Given the description of an element on the screen output the (x, y) to click on. 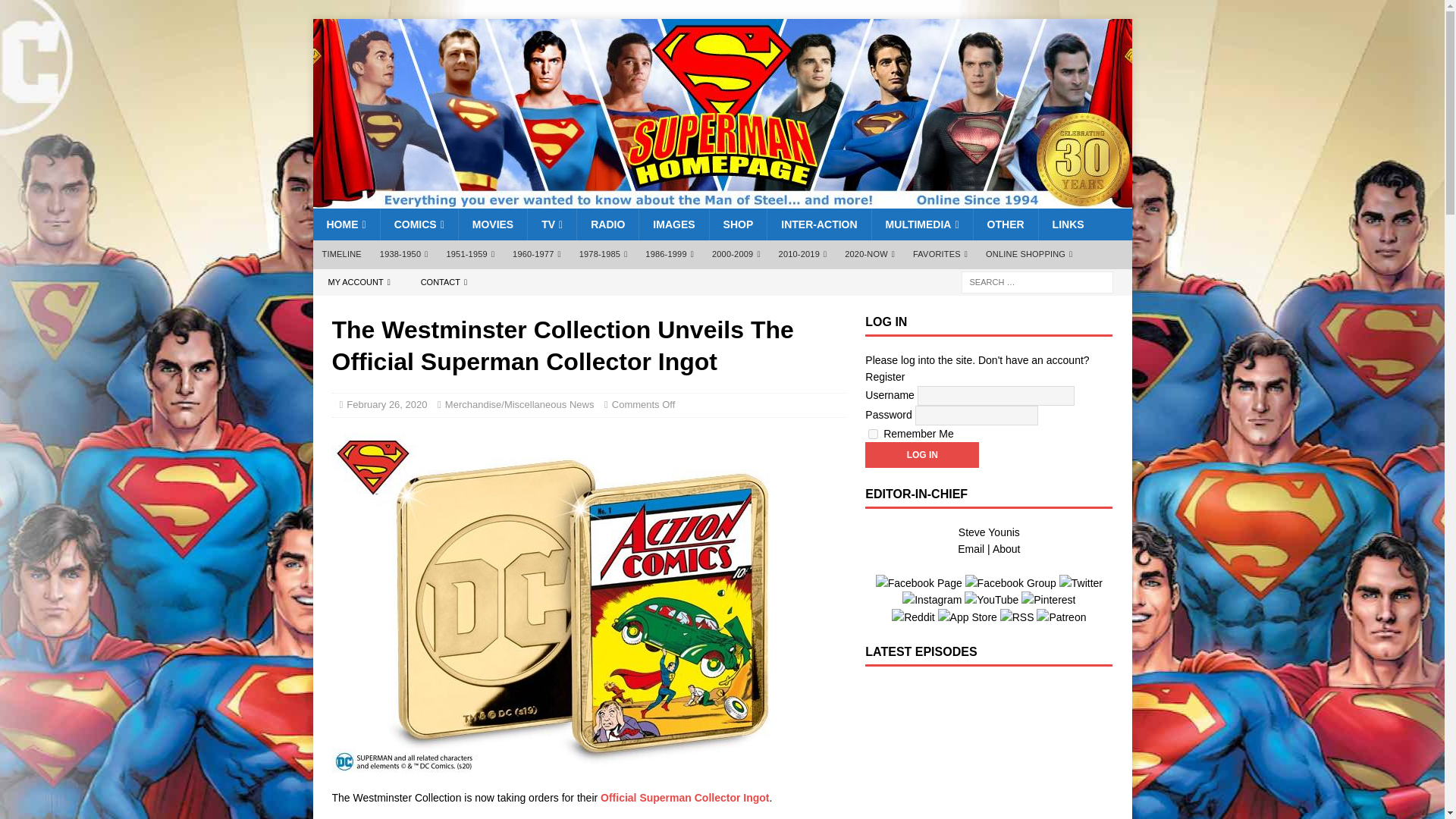
1986-1999 (669, 254)
RADIO (607, 224)
TIMELINE (341, 254)
OTHER (1005, 224)
TV (551, 224)
COMICS (419, 224)
1938-1950 (404, 254)
1978-1985 (603, 254)
forever (872, 433)
LINKS (1067, 224)
